Given the description of an element on the screen output the (x, y) to click on. 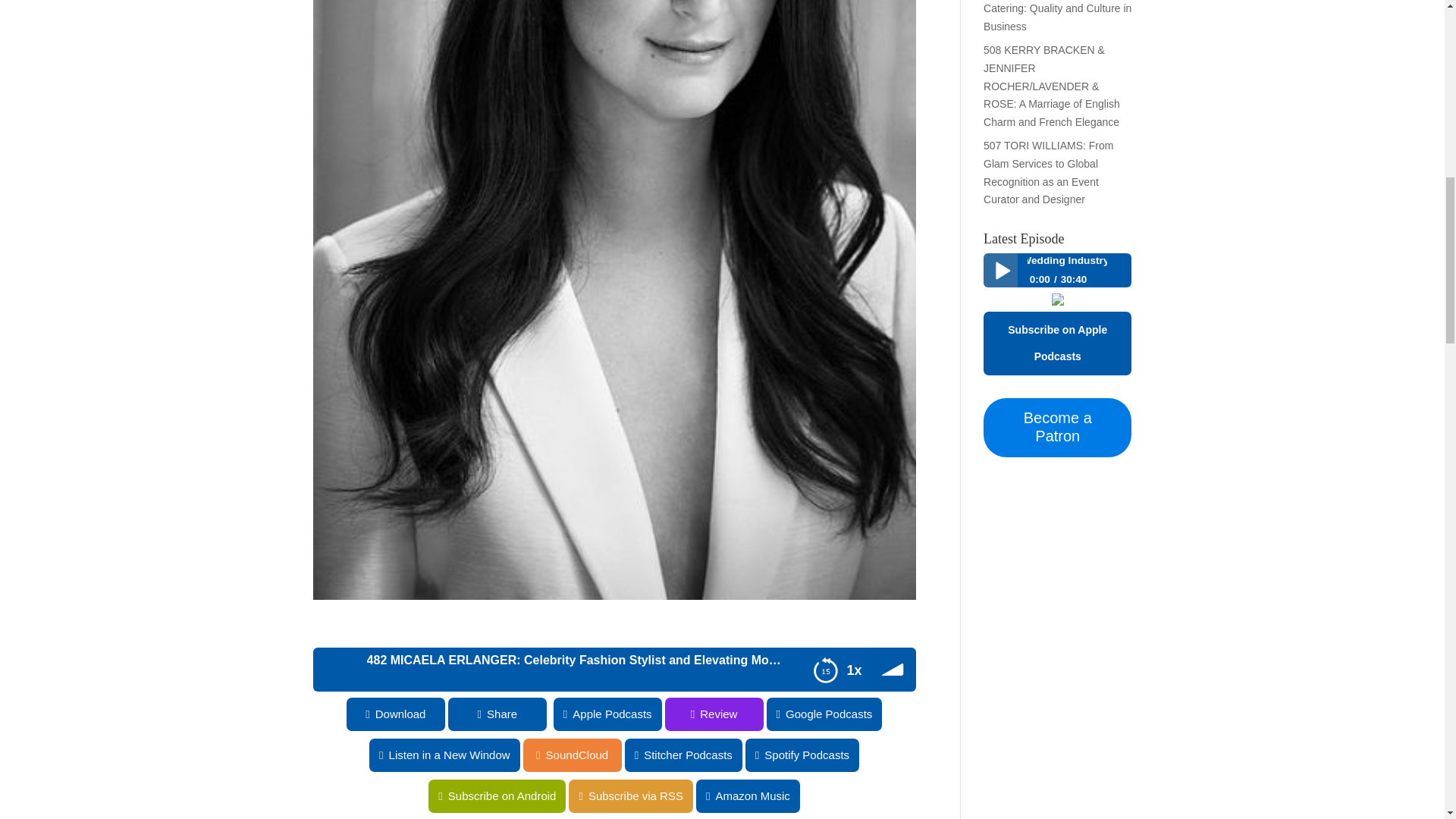
Subscribe via RSS (61, 796)
Download (385, 714)
Google Podcasts (824, 714)
Spotify Podcasts (748, 755)
Share (487, 714)
Review (49, 714)
Apple Podcasts (597, 714)
Subscribe on Android (68, 796)
SoundCloud (49, 755)
Listen in a New Window (75, 755)
Stitcher Podcasts (629, 755)
